Given the description of an element on the screen output the (x, y) to click on. 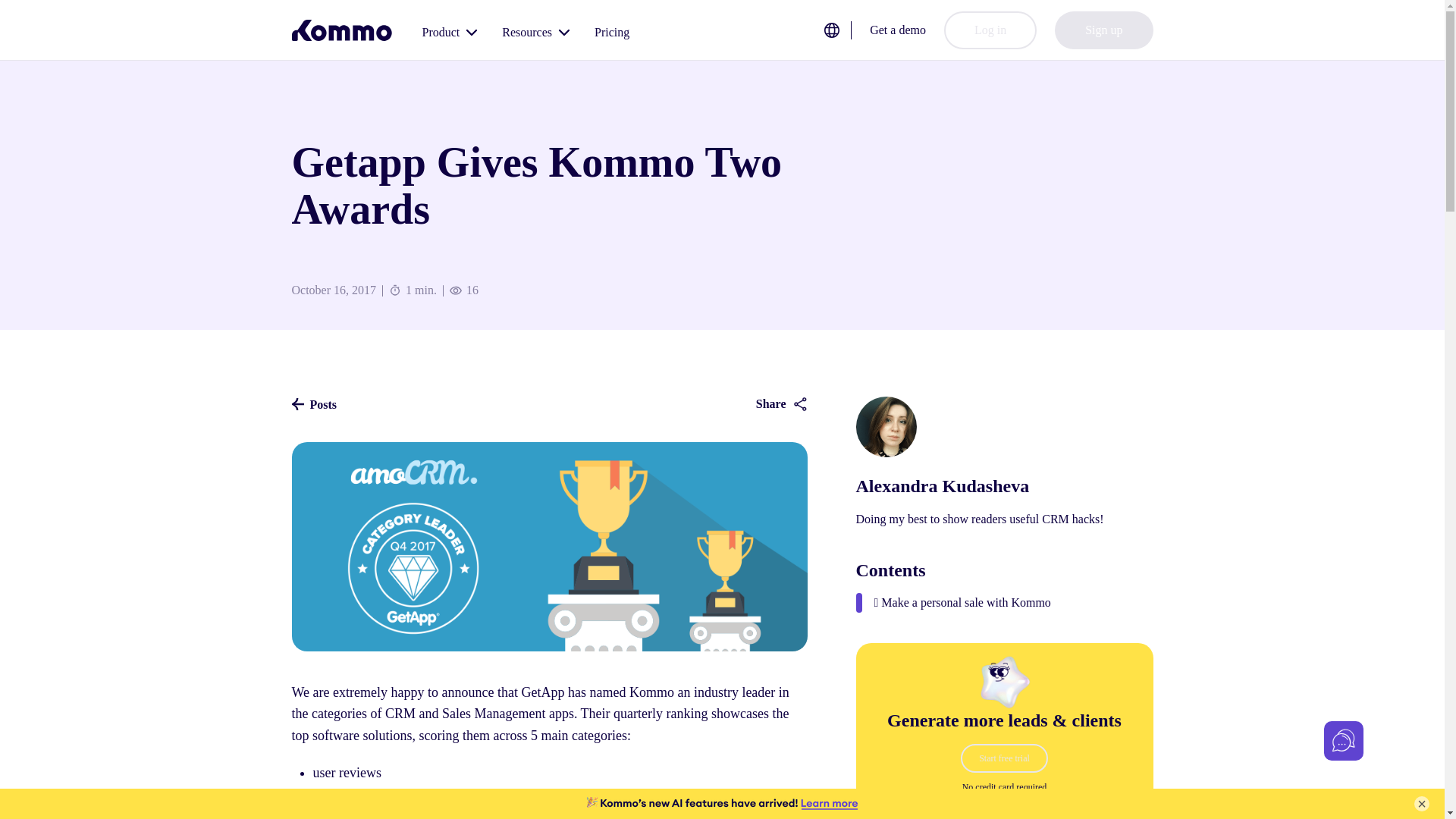
16 (470, 290)
